Given the description of an element on the screen output the (x, y) to click on. 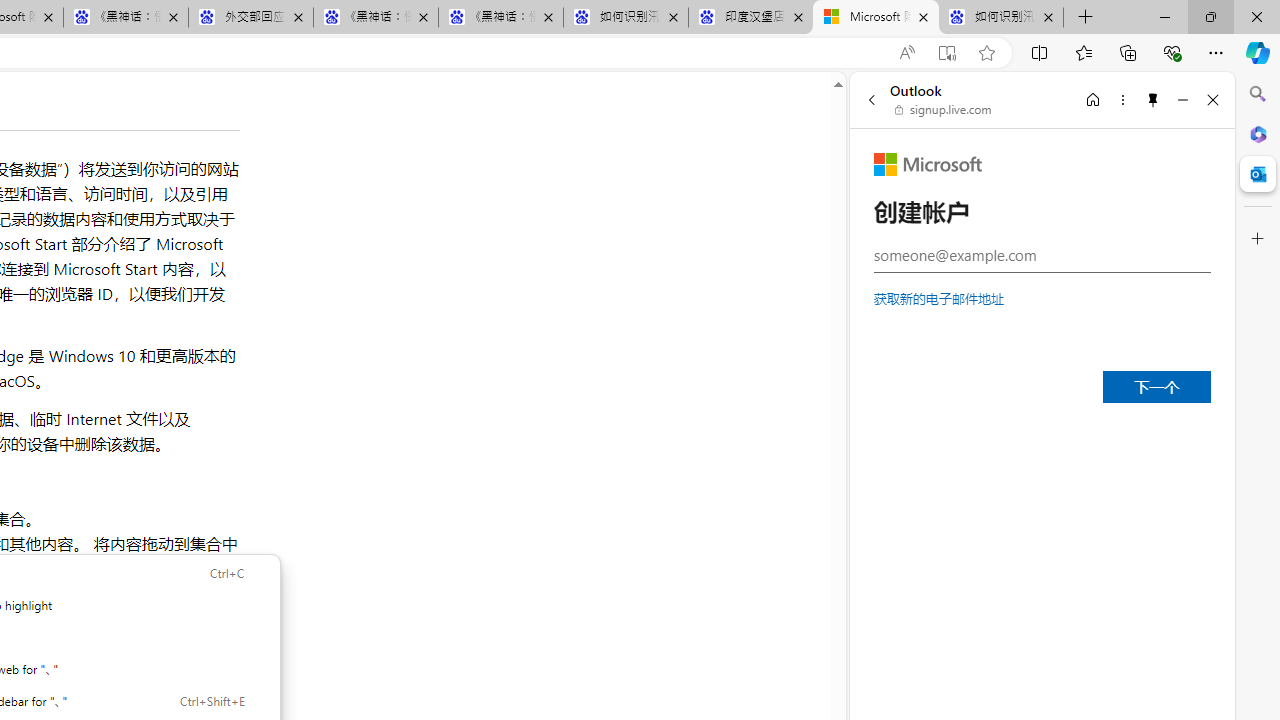
Microsoft (927, 164)
Unpin side pane (1153, 99)
Enter Immersive Reader (F9) (946, 53)
